Given the description of an element on the screen output the (x, y) to click on. 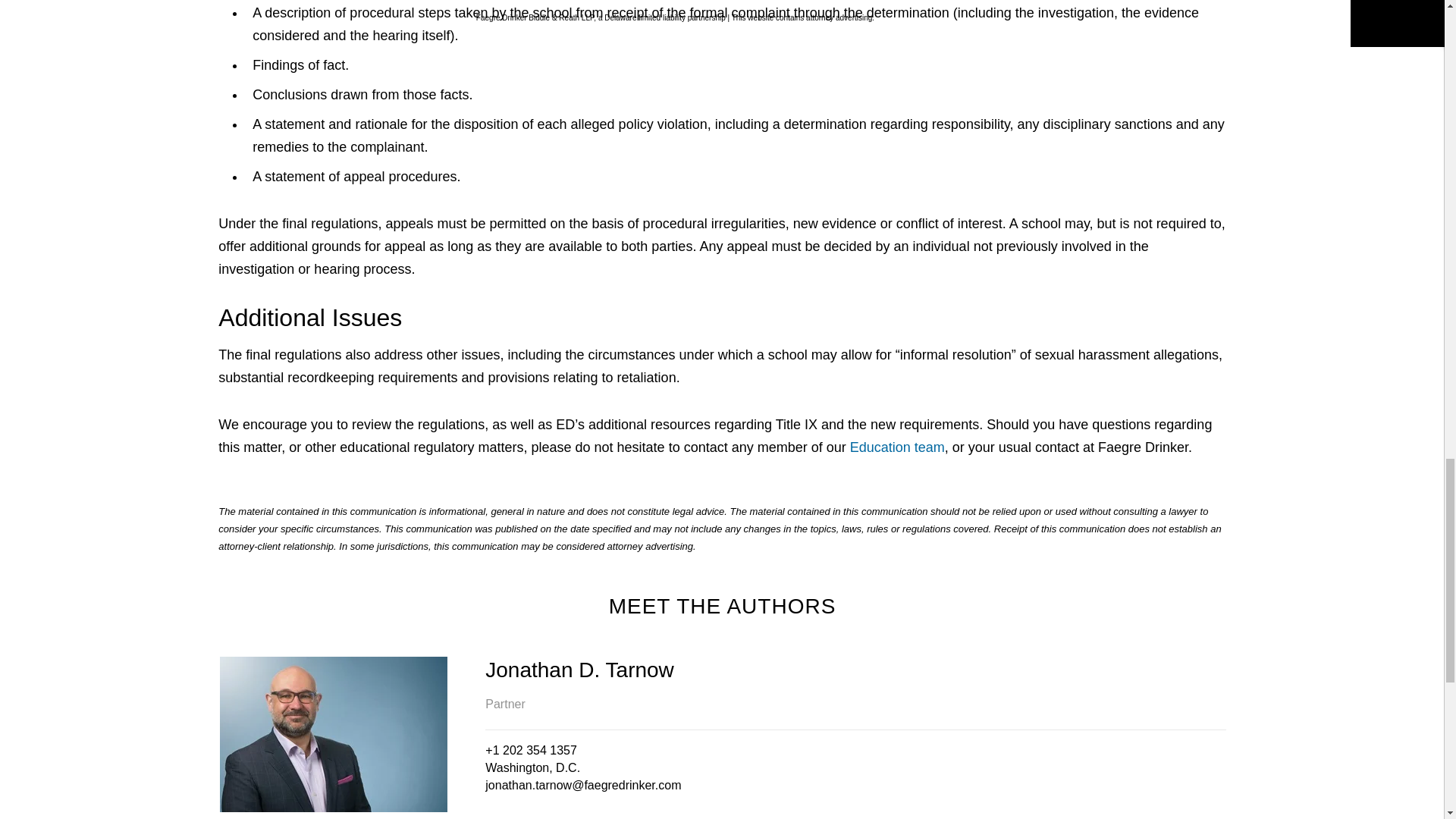
Jonathan D. Tarnow (854, 670)
Education team (897, 447)
